Given the description of an element on the screen output the (x, y) to click on. 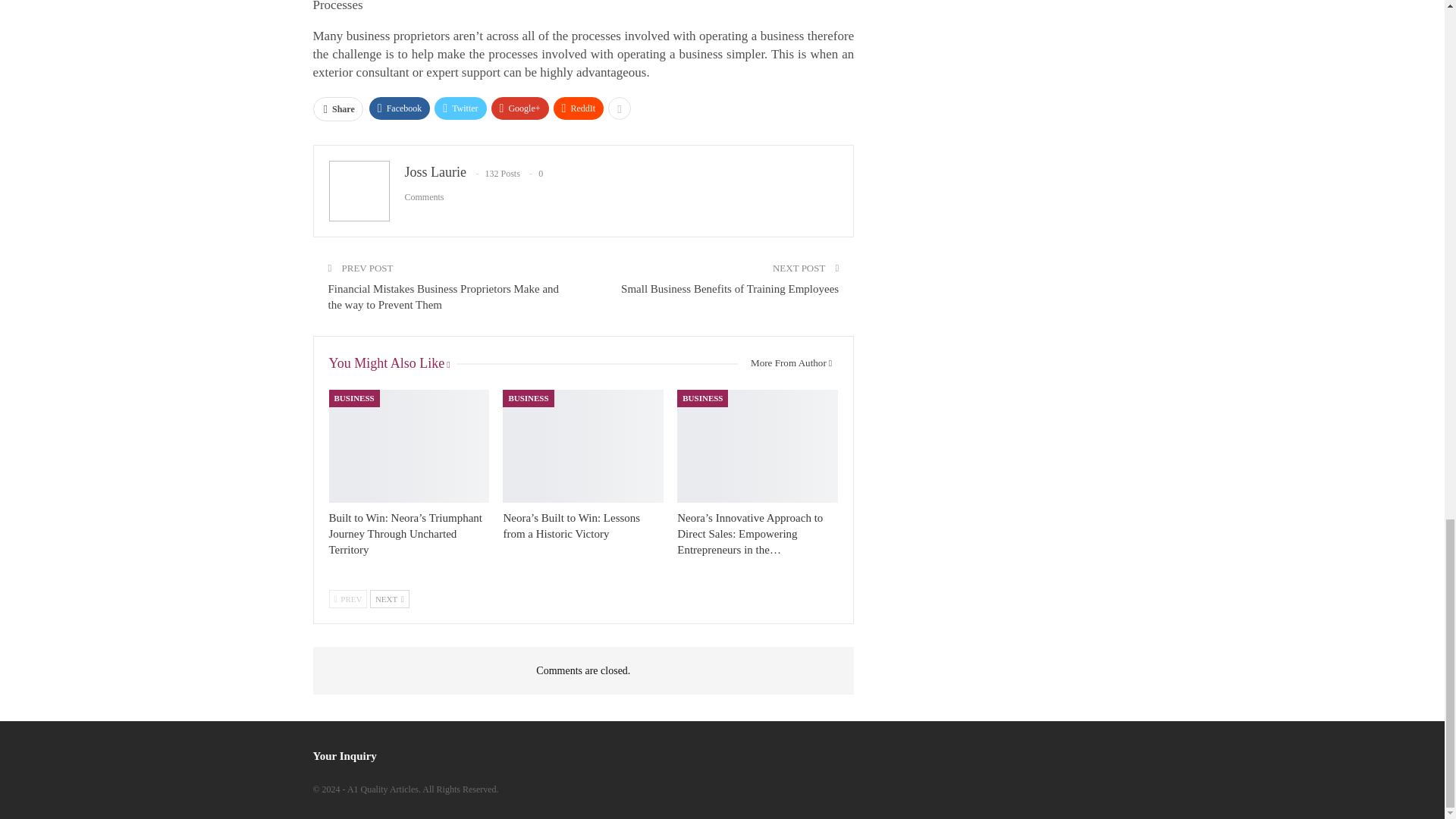
Facebook (399, 108)
Previous (348, 598)
Next (389, 598)
